Given the description of an element on the screen output the (x, y) to click on. 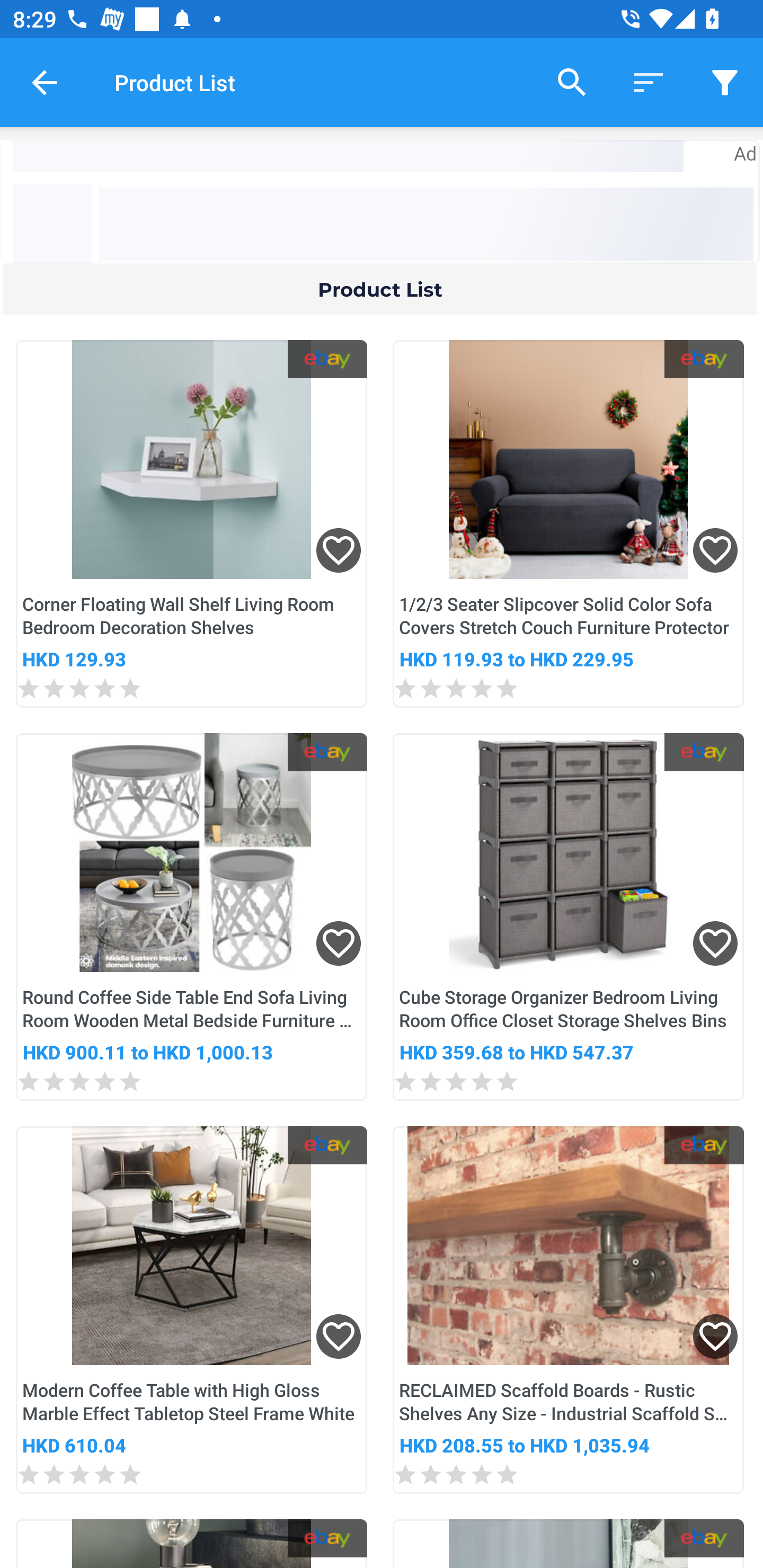
Navigate up (44, 82)
Search (572, 81)
short (648, 81)
short (724, 81)
